Given the description of an element on the screen output the (x, y) to click on. 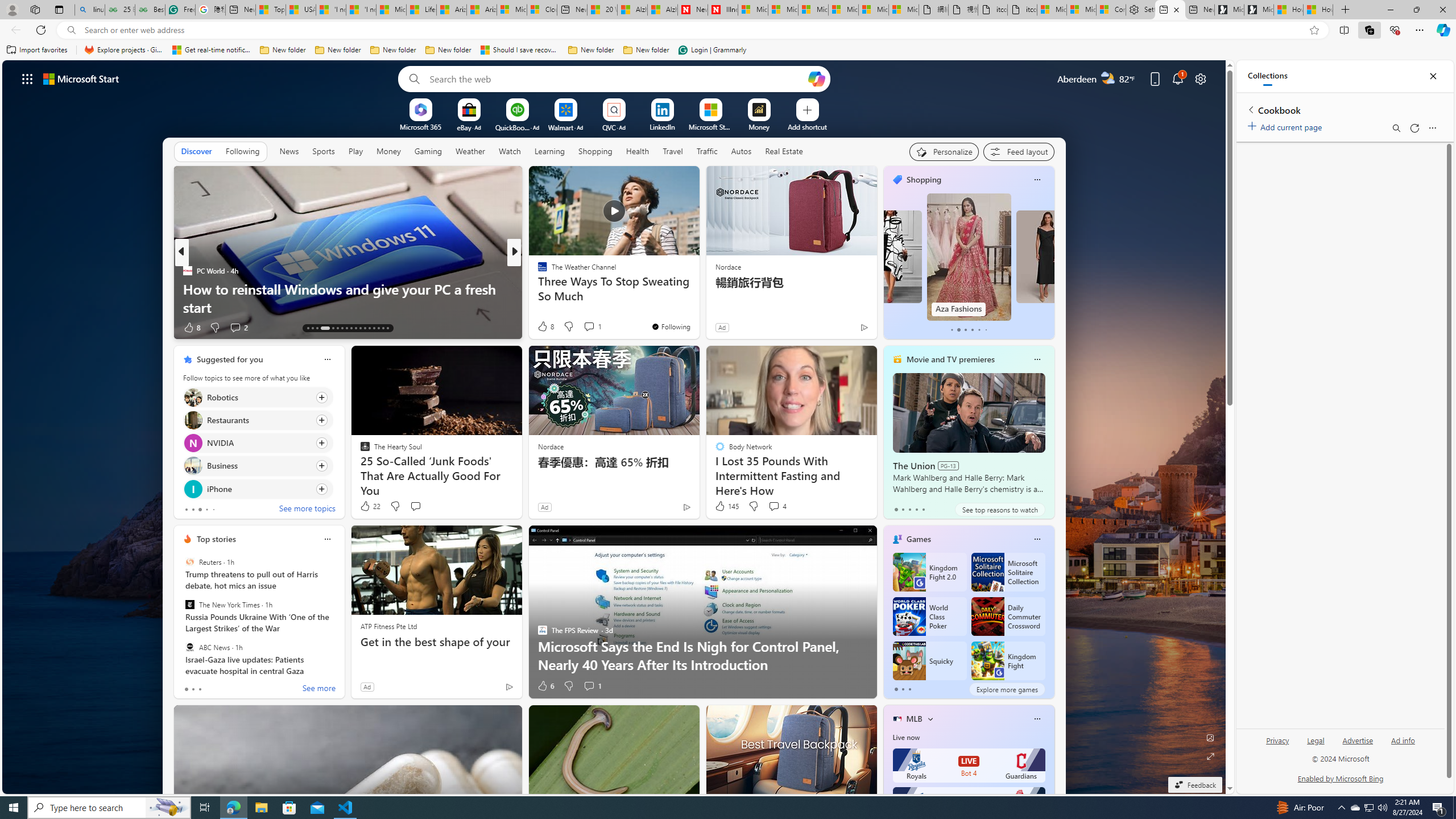
HuffPost (537, 270)
AutomationID: tab-22 (355, 328)
Favorites bar (728, 49)
Back to list of collections (1250, 109)
INSIDER (537, 270)
Travel (672, 151)
Cloud Computing Services | Microsoft Azure (542, 9)
View comments 10 Comment (597, 327)
Explore more games (1006, 689)
View comments 7 Comment (592, 327)
View comments 319 Comment (588, 327)
127 Like (545, 327)
More interests (930, 718)
